Given the description of an element on the screen output the (x, y) to click on. 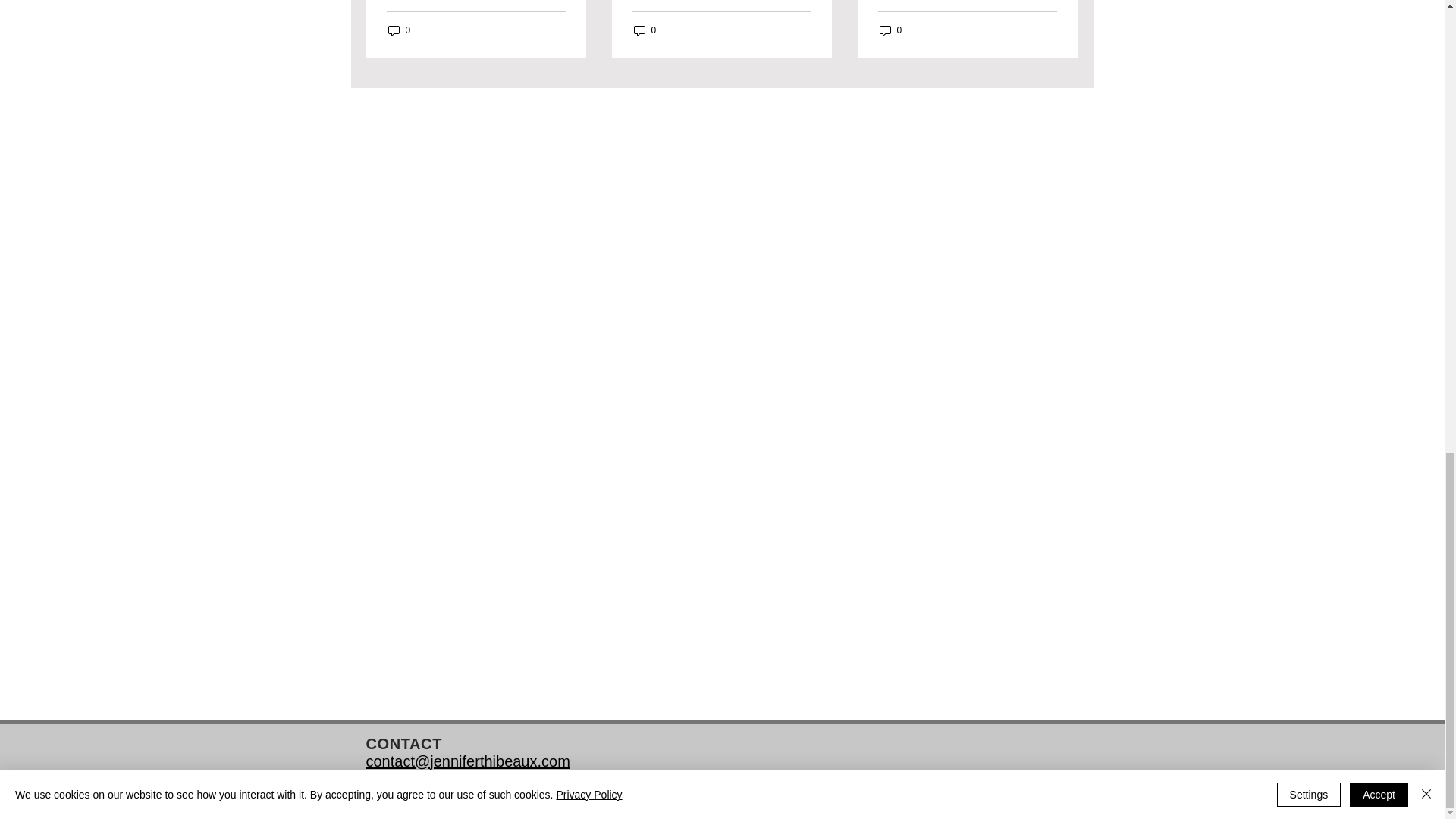
0 (644, 30)
0 (399, 30)
